Given the description of an element on the screen output the (x, y) to click on. 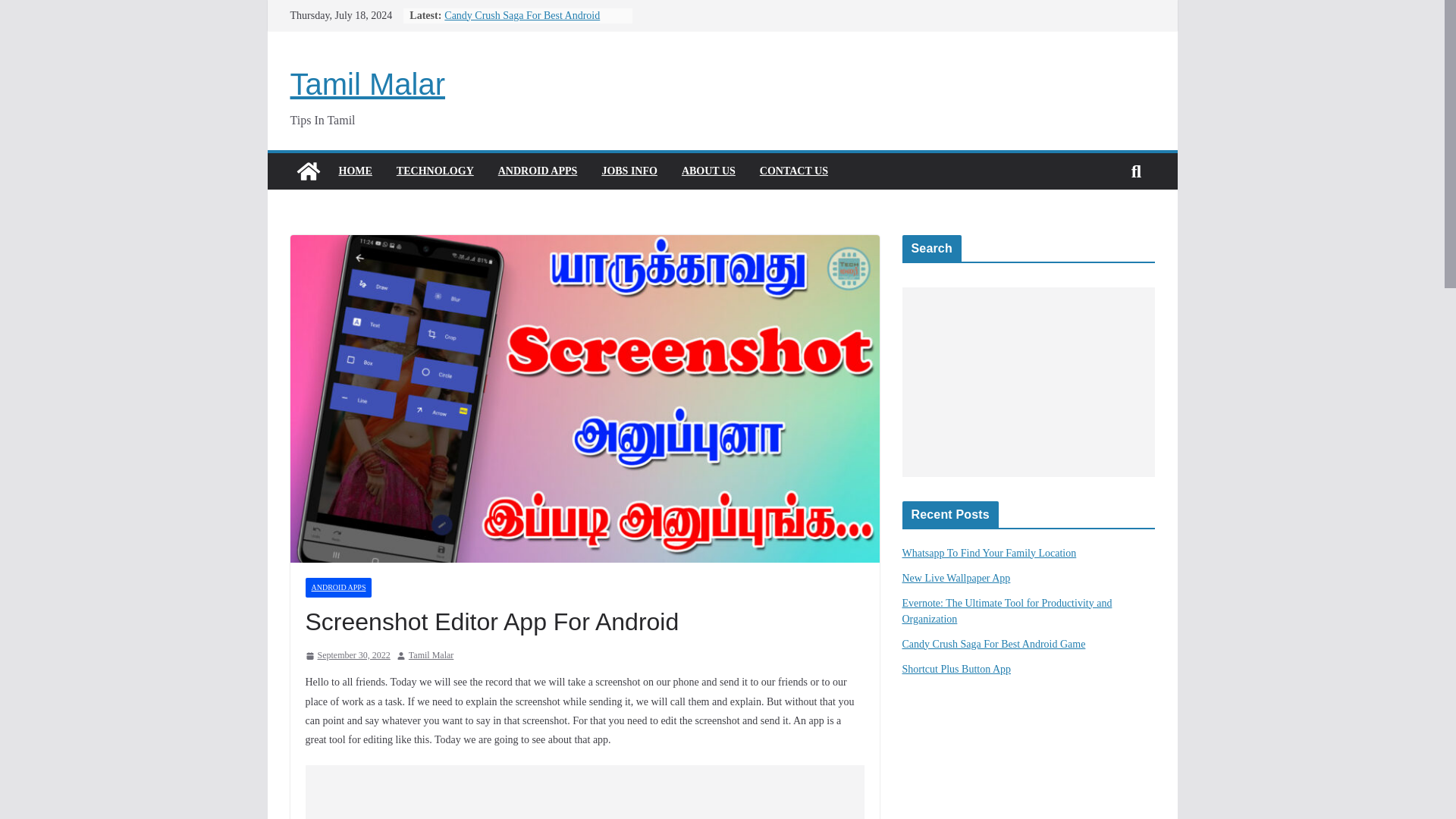
September 30, 2022 (347, 655)
12:04 pm (347, 655)
Tamil Malar (366, 83)
ANDROID APPS (337, 587)
Tamil Malar (366, 83)
Candy Crush Saga For Best Android Game (521, 22)
Shortcut Plus Button App (956, 668)
CONTACT US (794, 170)
New Live Wallpaper App (956, 577)
Whatsapp To Find Your Family Location (989, 552)
Tamil Malar (307, 171)
Candy Crush Saga For Best Android Game (994, 644)
Tamil Malar (430, 655)
HOME (354, 170)
